Given the description of an element on the screen output the (x, y) to click on. 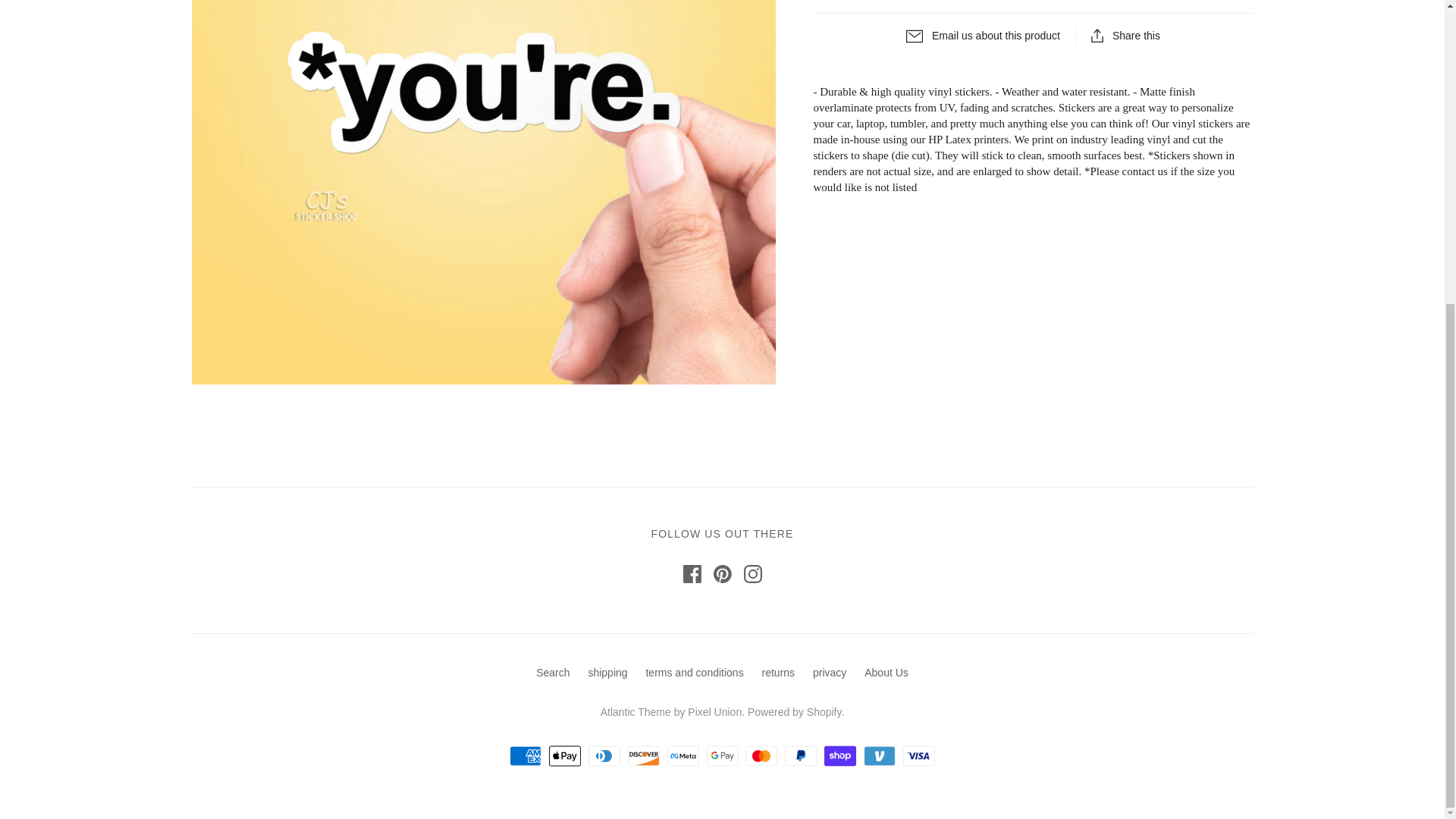
Instagram Icon (751, 574)
Pinterest Icon (721, 574)
Diners Club (604, 755)
Facebook Icon (691, 574)
Apple Pay (564, 755)
American Express (525, 755)
